Given the description of an element on the screen output the (x, y) to click on. 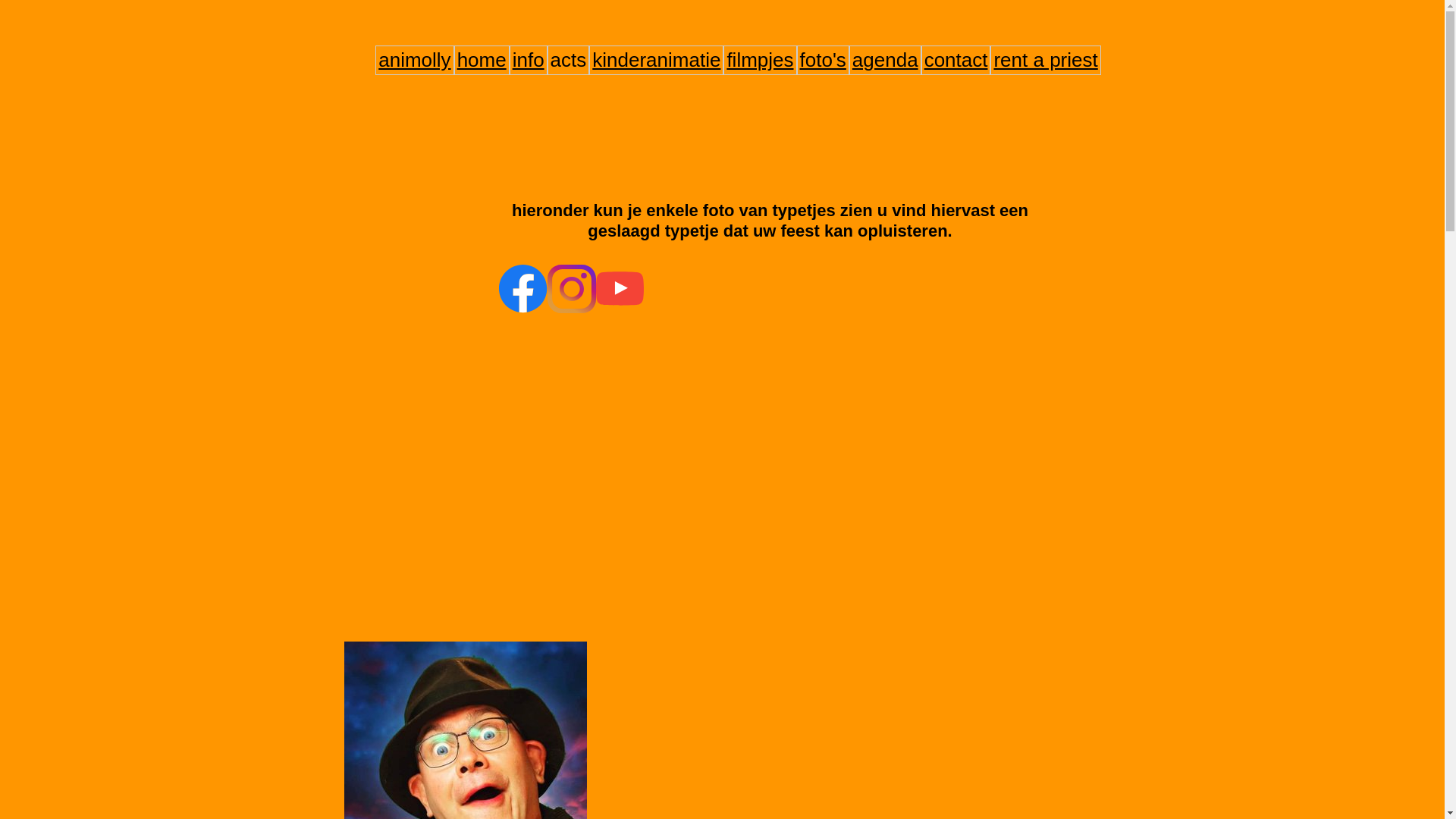
home Element type: text (481, 60)
agenda Element type: text (885, 60)
animolly Element type: text (414, 60)
rent a priest Element type: text (1045, 60)
contact Element type: text (956, 60)
info Element type: text (528, 60)
foto's Element type: text (823, 60)
filmpjes Element type: text (759, 60)
kinderanimatie Element type: text (656, 60)
acts Element type: text (568, 60)
